Given the description of an element on the screen output the (x, y) to click on. 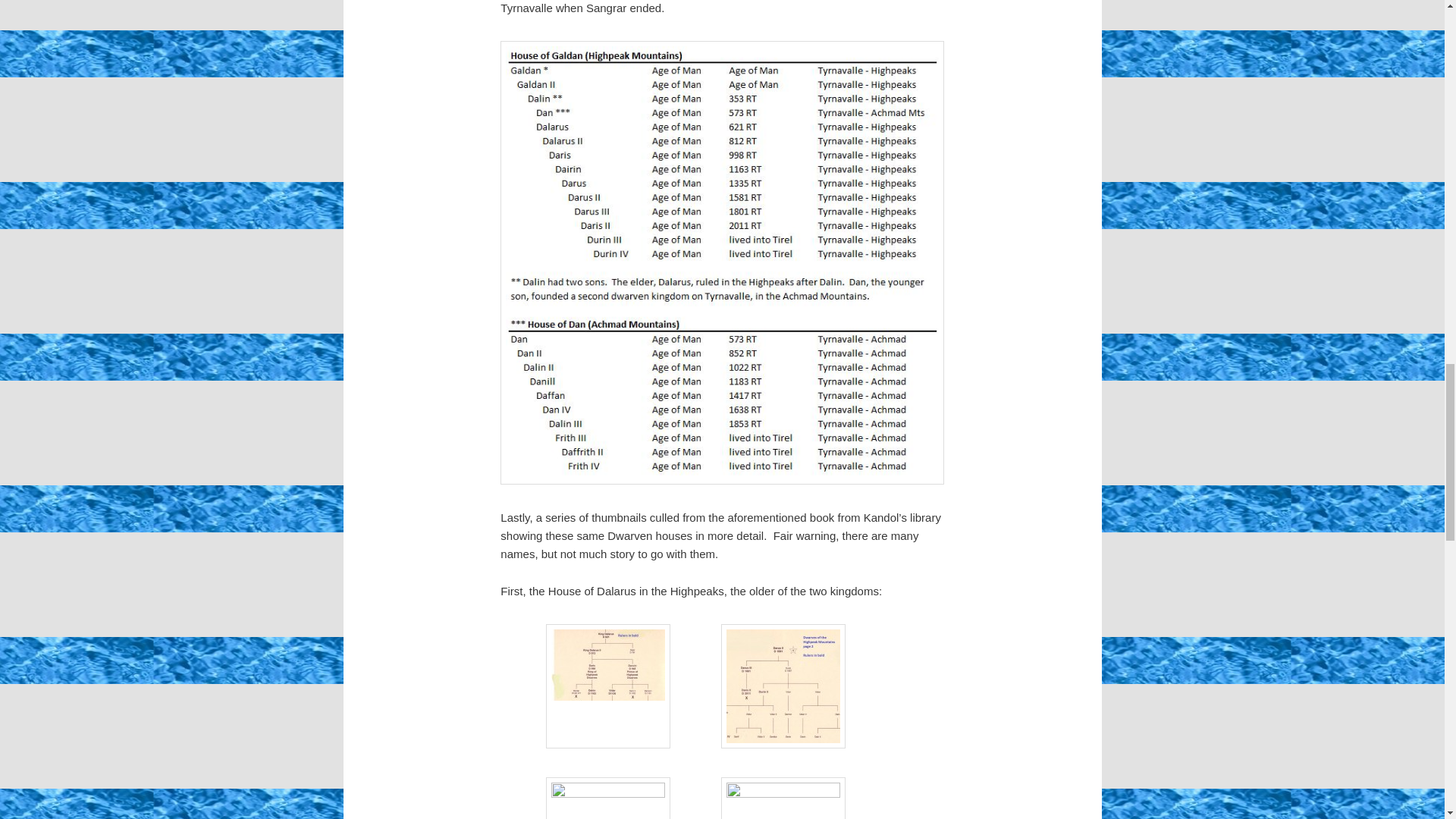
dwarf king highpeak 6 (782, 798)
dwarf king highpeak 5 (607, 798)
dwarf king highpeak 4 (782, 686)
dwarf king highpeak root (607, 686)
